Given the description of an element on the screen output the (x, y) to click on. 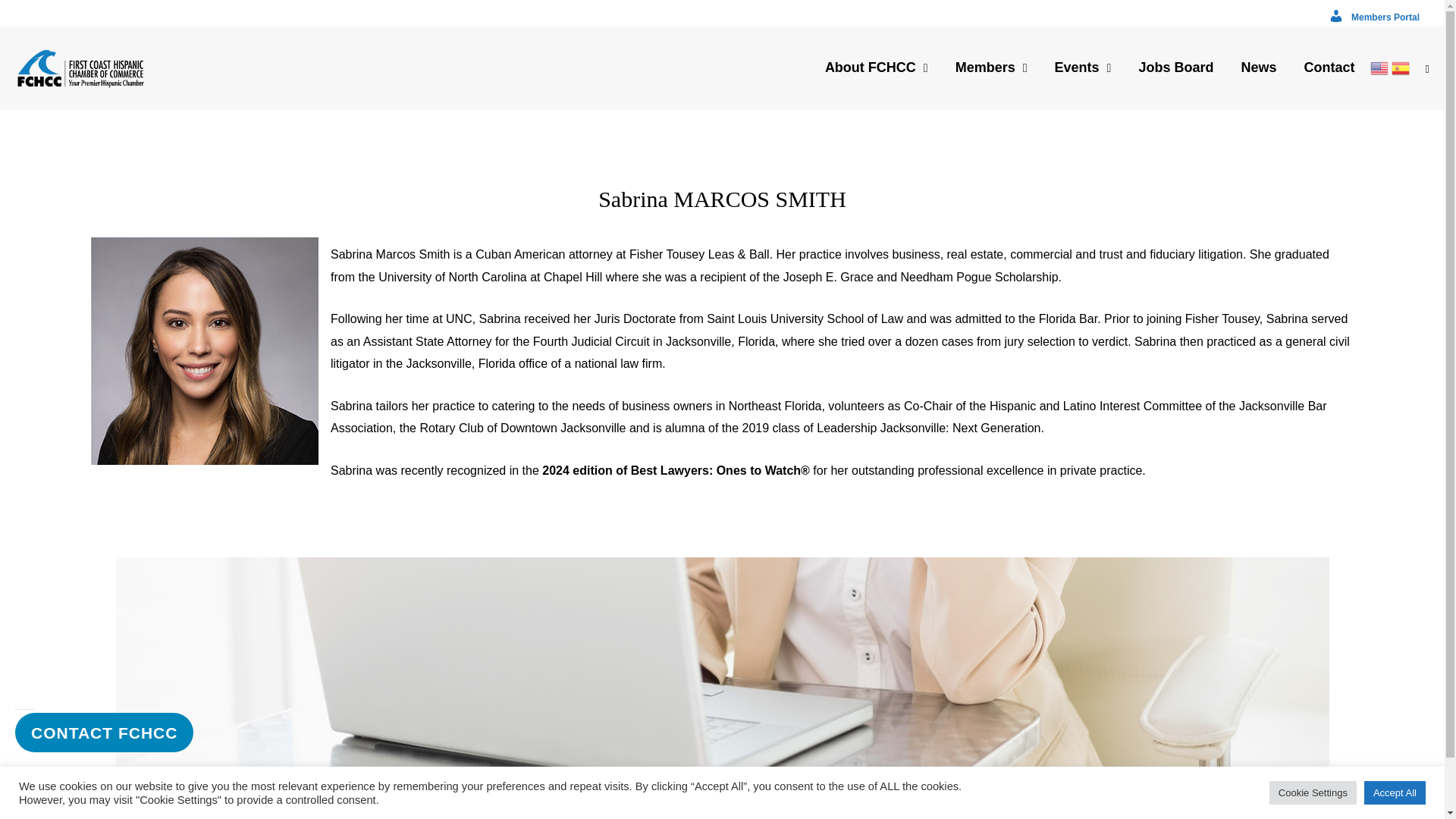
Members (991, 67)
CONTACT FCHCC (103, 732)
English (1379, 66)
Events (1083, 67)
Search (34, 20)
Jobs Board (1175, 67)
Spanish (1400, 66)
About FCHCC (876, 67)
Contact (1329, 67)
Members Portal (1373, 17)
